Given the description of an element on the screen output the (x, y) to click on. 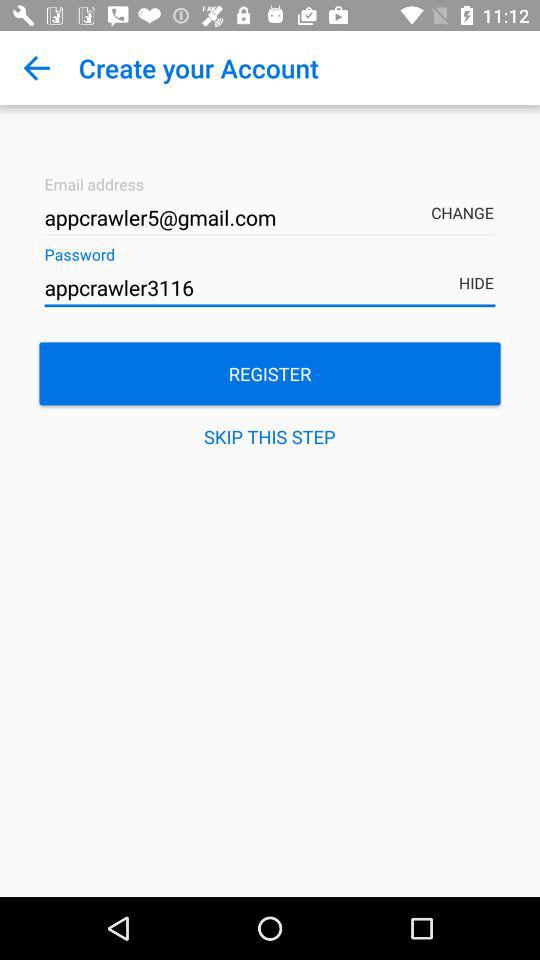
open the item above the skip this step item (269, 373)
